Given the description of an element on the screen output the (x, y) to click on. 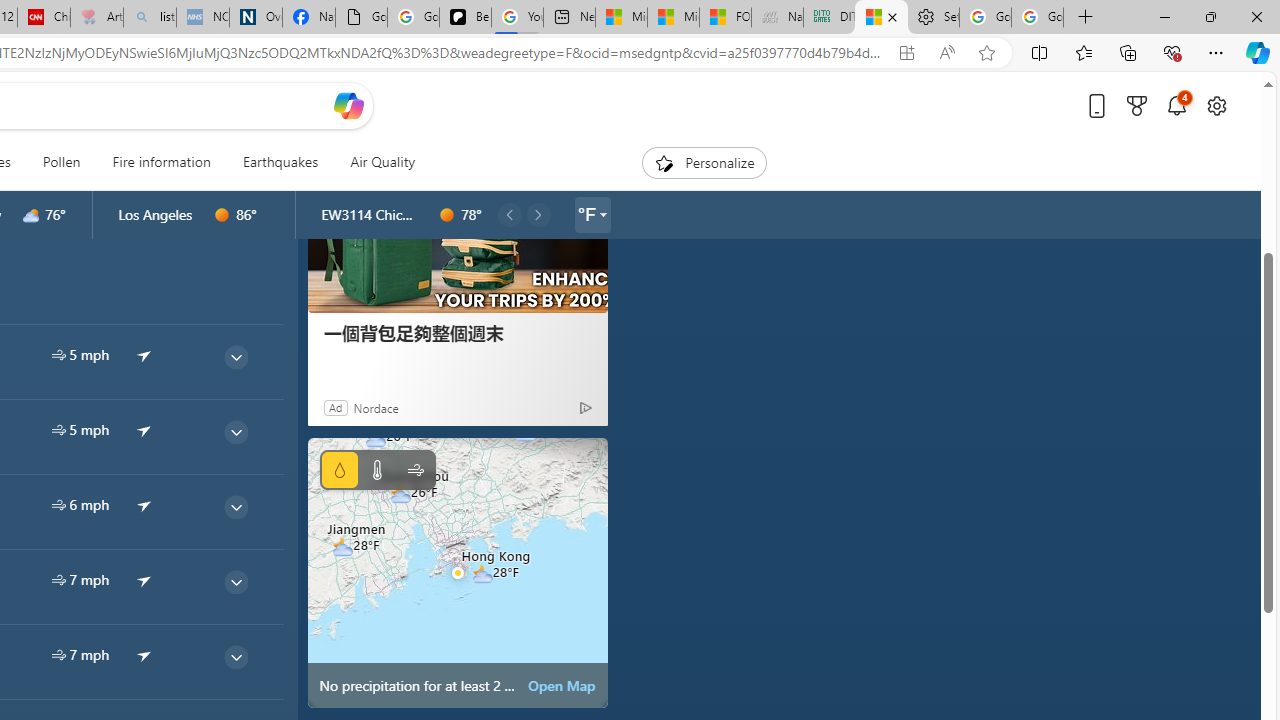
Temperature (376, 470)
Microsoft rewards (1137, 105)
Nordace (376, 407)
Ad Choice (584, 407)
Notifications (1176, 105)
Aberdeen, Hong Kong SAR hourly forecast | Microsoft Weather (881, 17)
Class: miniMapRadarSVGView-DS-EntryPoint1-1 (457, 572)
hourlyTable/wind (58, 654)
locationBar/triangle (602, 214)
App available. Install Microsoft Start Weather (906, 53)
